Given the description of an element on the screen output the (x, y) to click on. 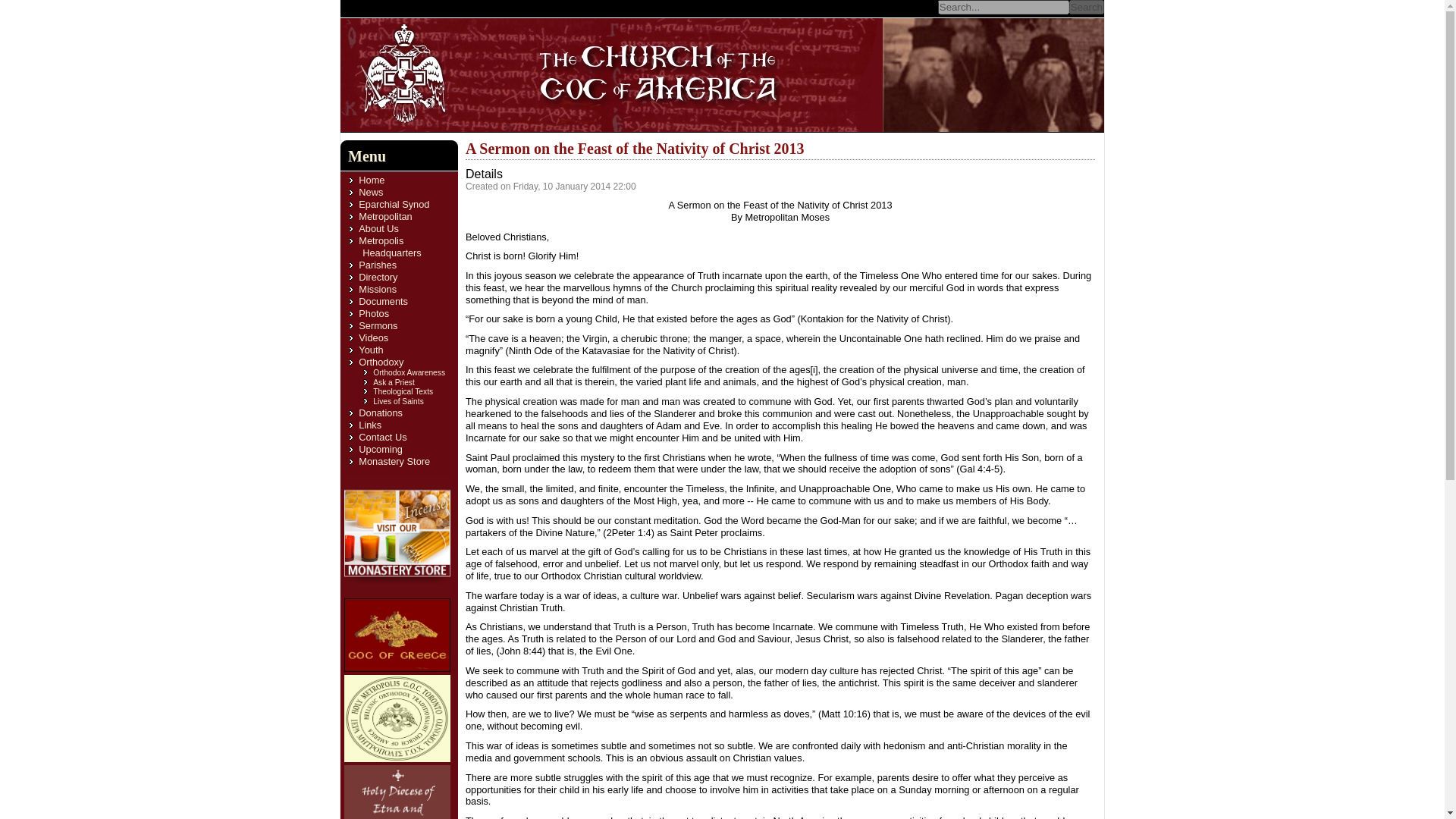
Youth (370, 349)
Parishes (377, 265)
Ask a Priest (393, 382)
Monastery Store (393, 460)
Links (369, 424)
Search... (1002, 7)
Metropolis Headquarters (389, 246)
Theological Texts (402, 391)
Sermons (377, 325)
